Given the description of an element on the screen output the (x, y) to click on. 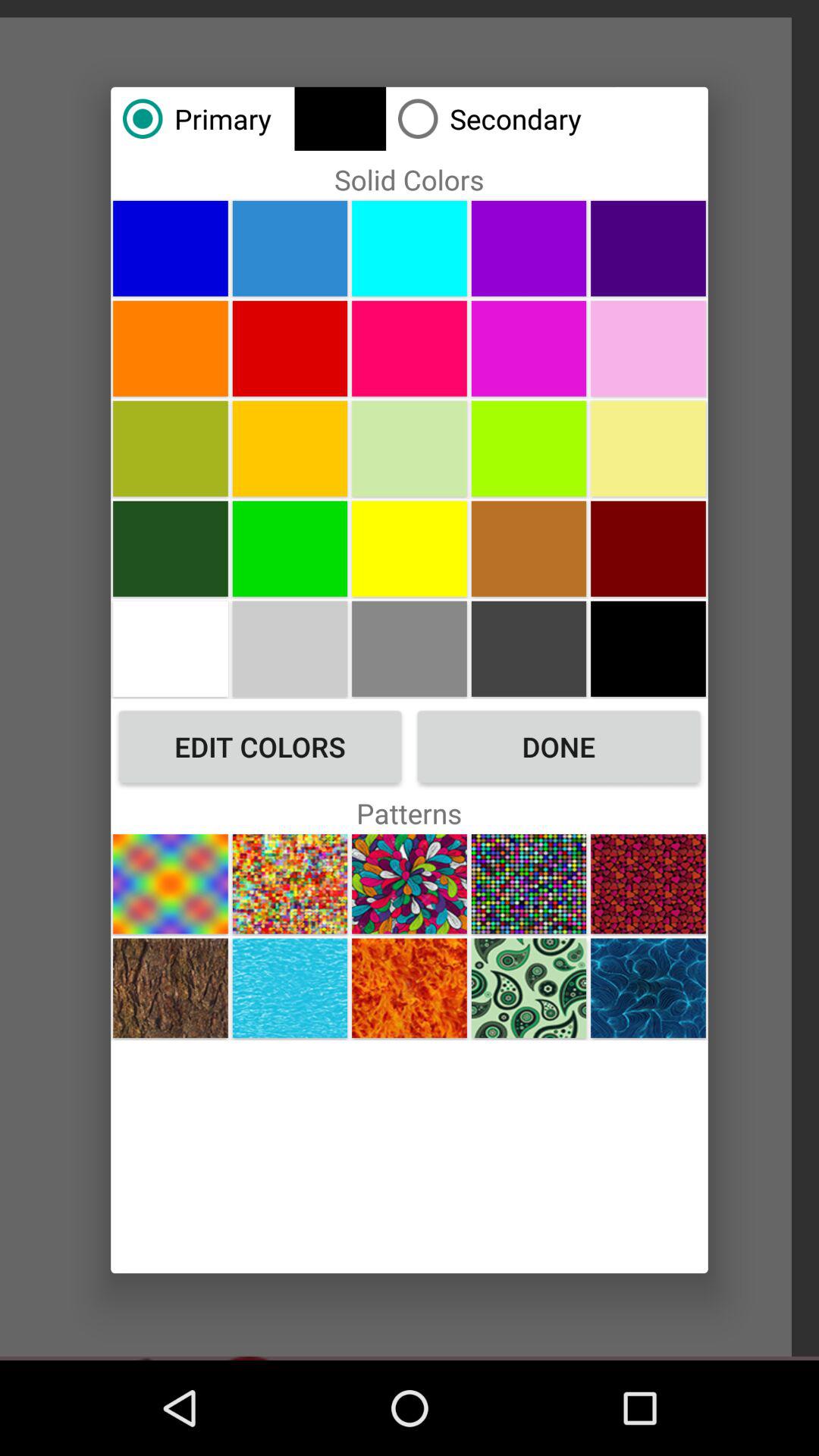
choose button at the bottom left corner (170, 987)
